Given the description of an element on the screen output the (x, y) to click on. 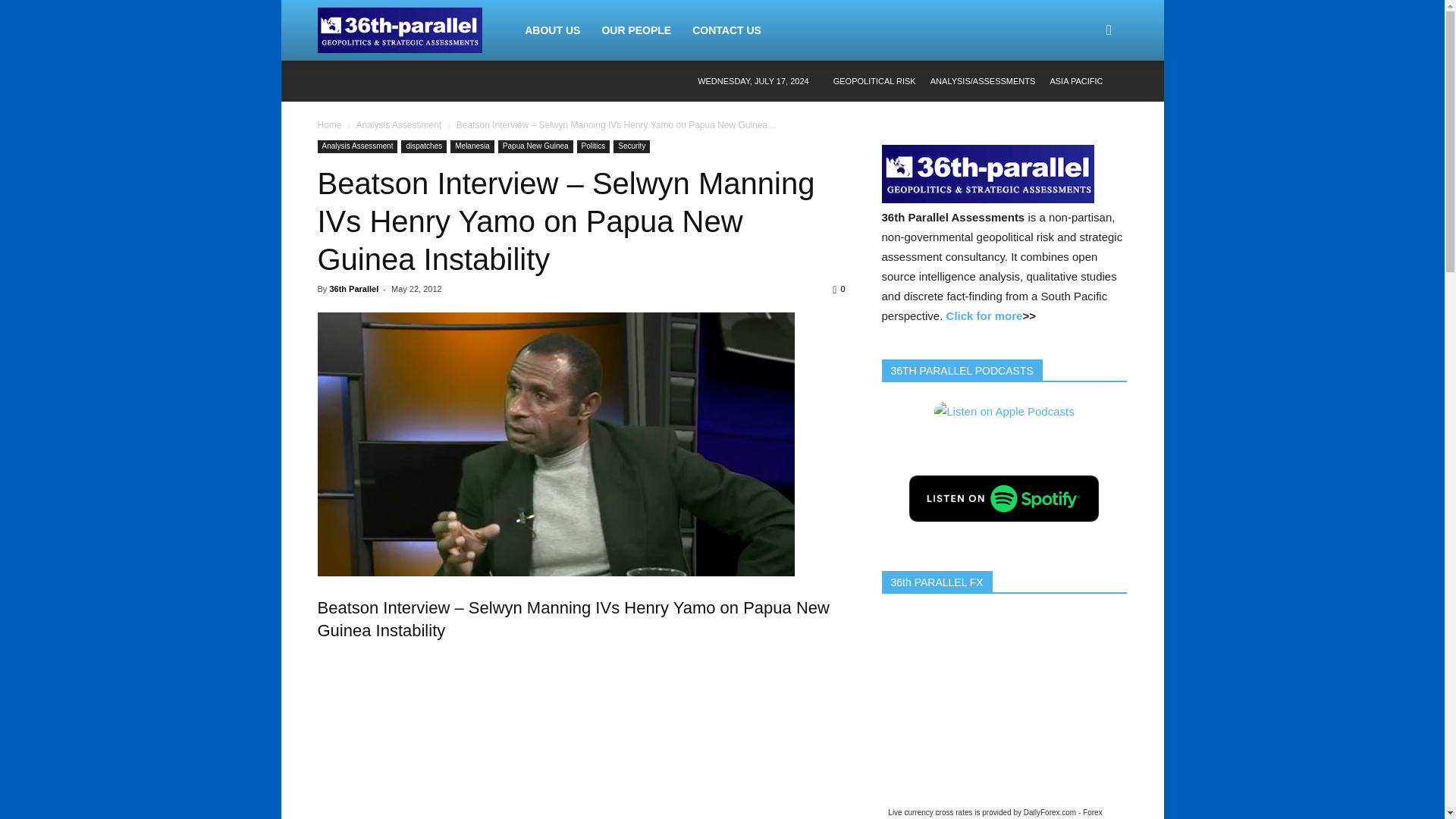
CLOSE (140, 20)
About Us (140, 88)
Mission Statement (140, 117)
CONTACT US (140, 182)
OUR PEOPLE (636, 30)
36th-Parallel.com (399, 29)
CONTACT US (726, 30)
ABOUT US (140, 57)
GEOPOLITICAL RISK (873, 80)
ABOUT US (552, 30)
OUR PEOPLE (140, 148)
